Given the description of an element on the screen output the (x, y) to click on. 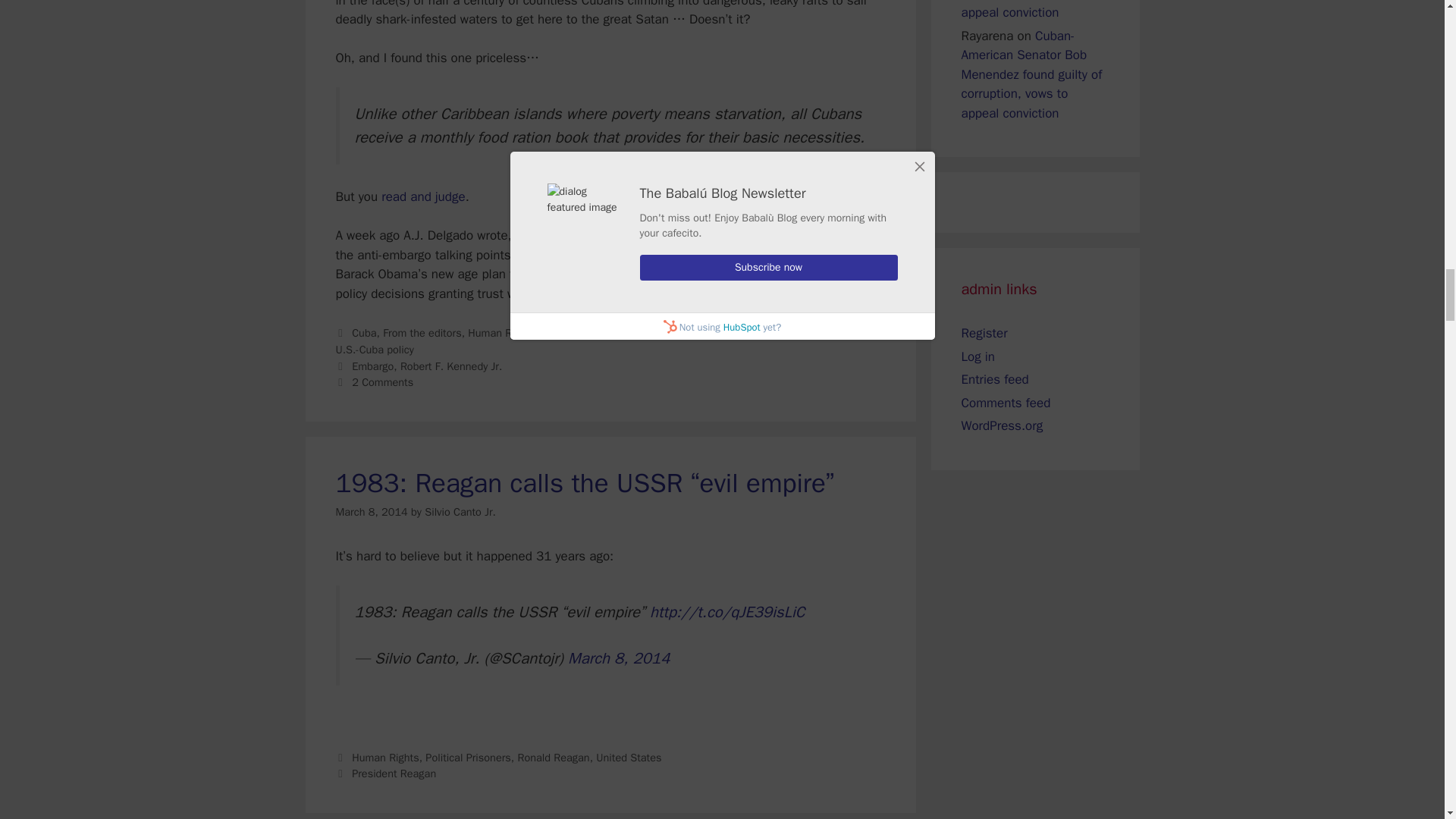
View all posts by Silvio Canto Jr. (460, 511)
read and judge (422, 196)
Liberal Hypocrisy (582, 332)
Cuba (363, 332)
From the editors (421, 332)
Human Rights (501, 332)
and is already evident (743, 293)
